Given the description of an element on the screen output the (x, y) to click on. 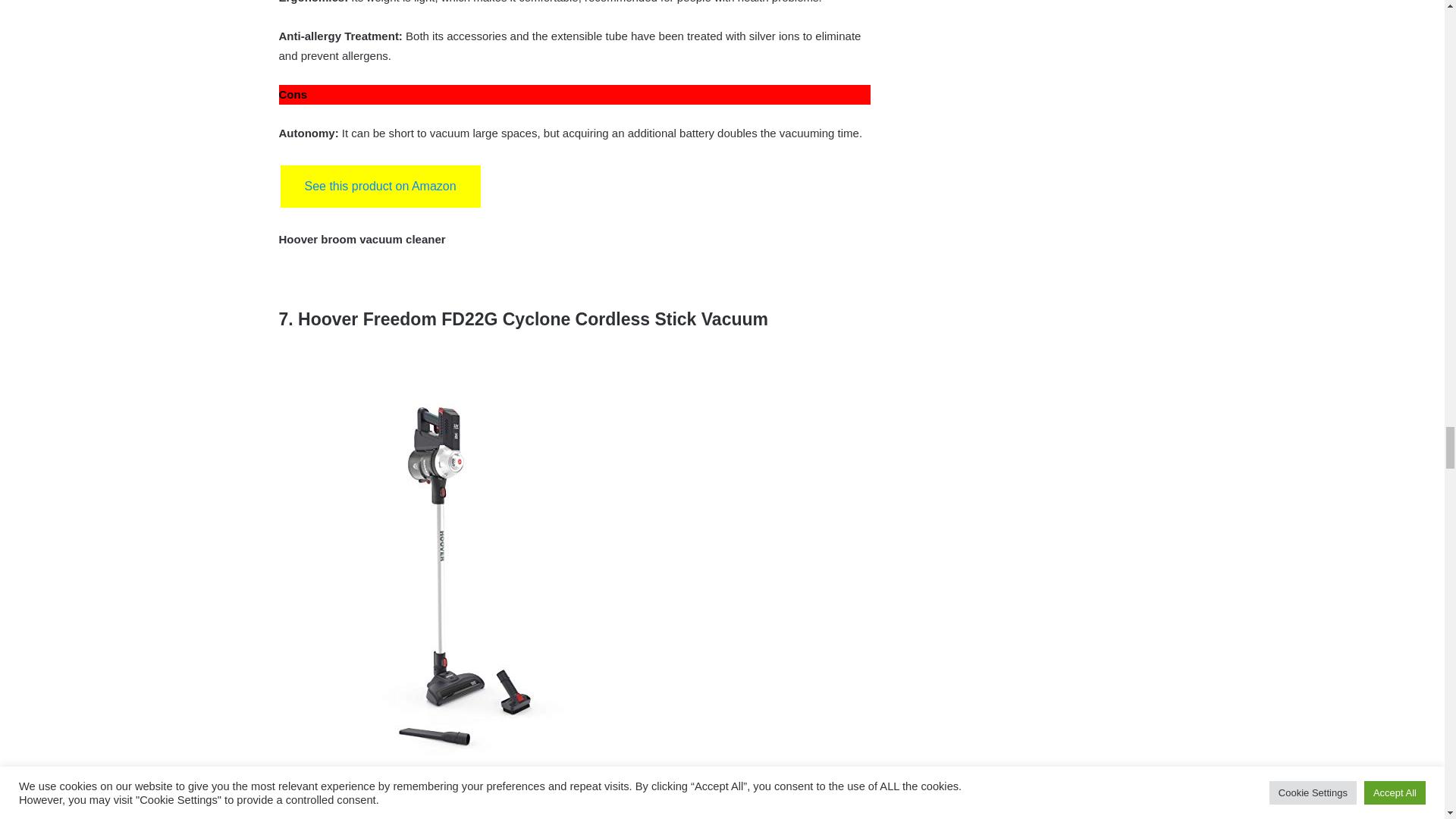
See this product on Amazon (380, 186)
